Given the description of an element on the screen output the (x, y) to click on. 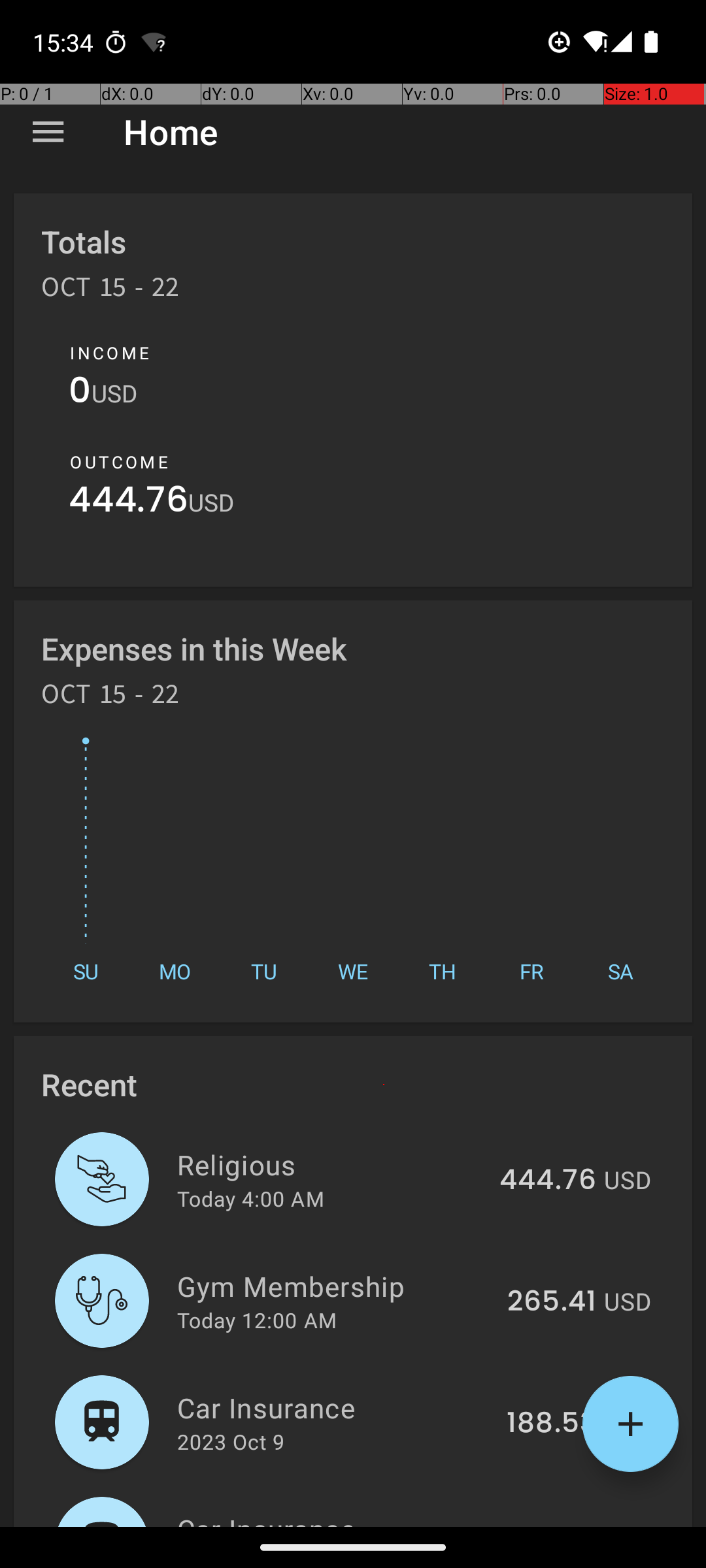
444.76 Element type: android.widget.TextView (128, 502)
Gym Membership Element type: android.widget.TextView (334, 1285)
Today 12:00 AM Element type: android.widget.TextView (256, 1320)
265.41 Element type: android.widget.TextView (551, 1301)
188.53 Element type: android.widget.TextView (550, 1423)
